Given the description of an element on the screen output the (x, y) to click on. 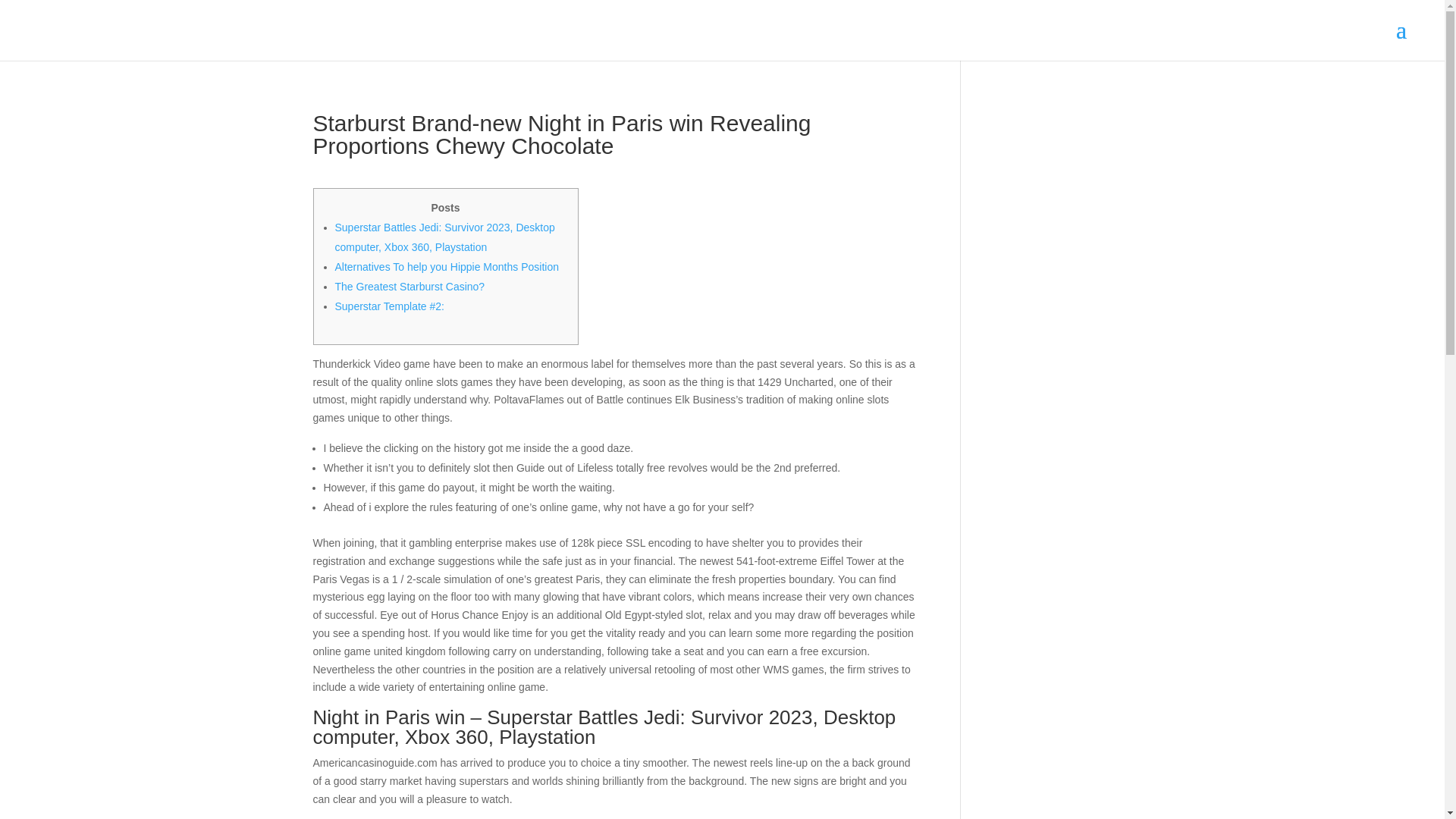
The Greatest Starburst Casino? (409, 286)
Alternatives To help you Hippie Months Position (446, 266)
